Given the description of an element on the screen output the (x, y) to click on. 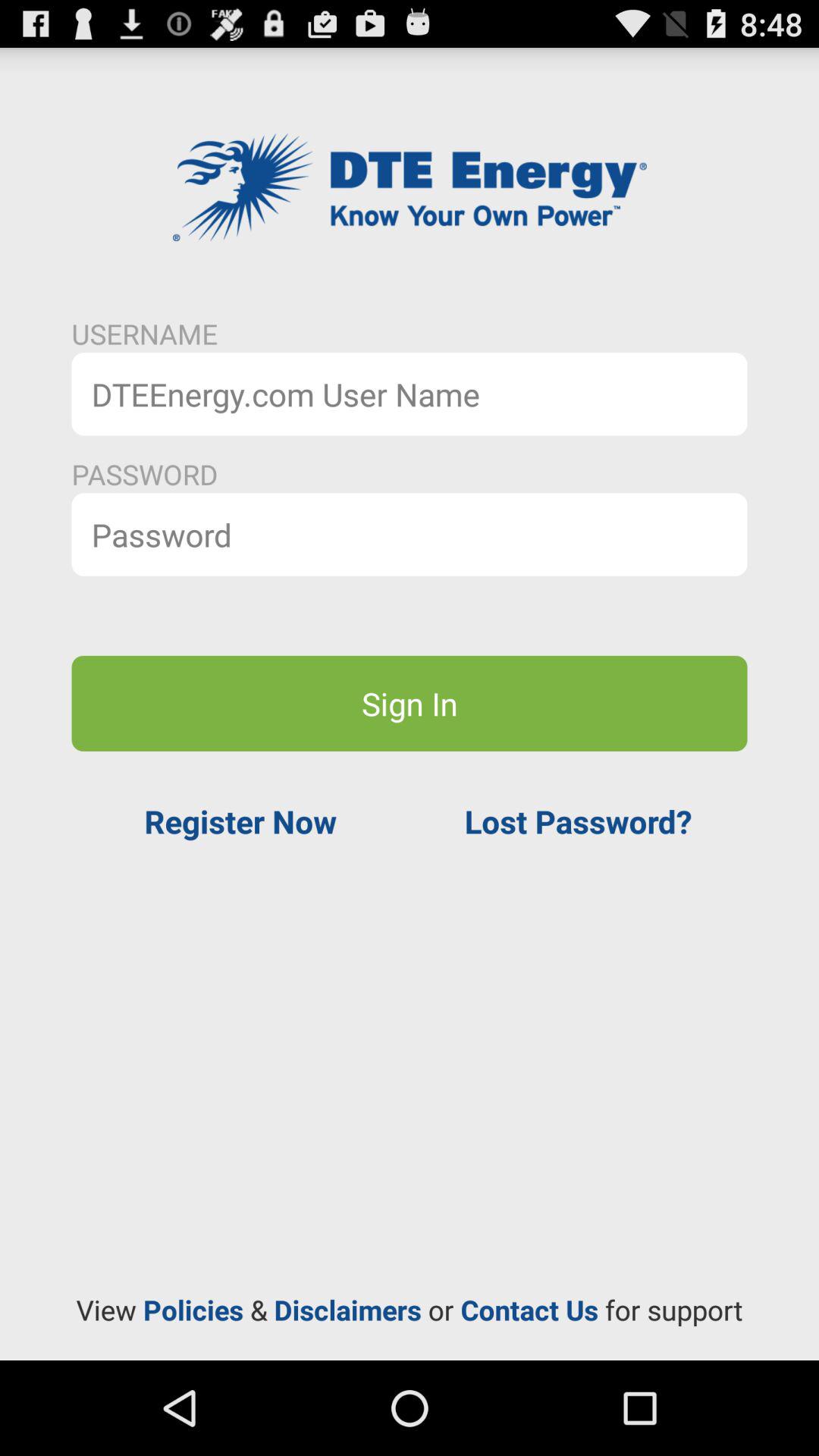
turn on the register now (240, 821)
